Given the description of an element on the screen output the (x, y) to click on. 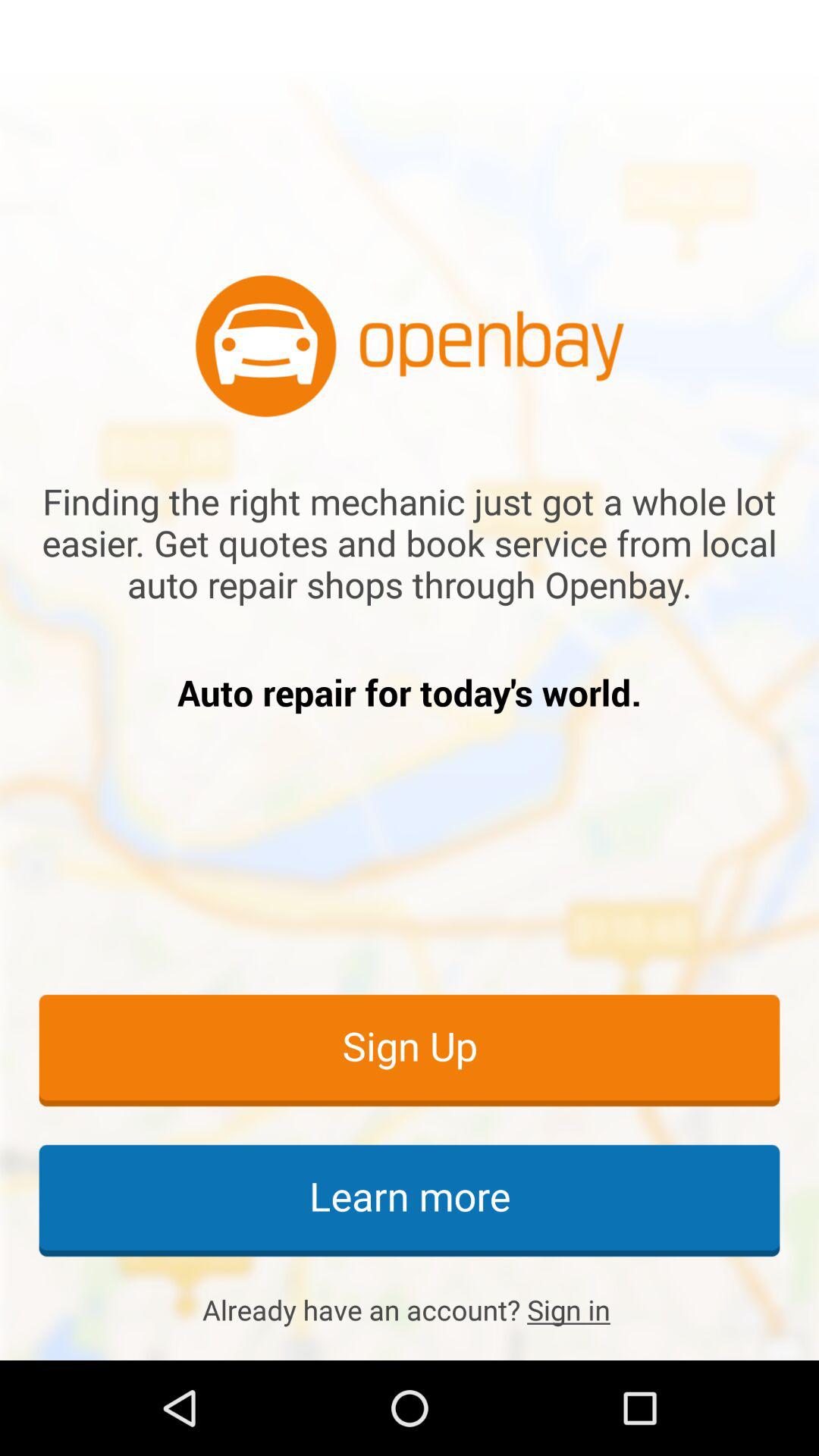
select the already have an item (409, 1309)
